Given the description of an element on the screen output the (x, y) to click on. 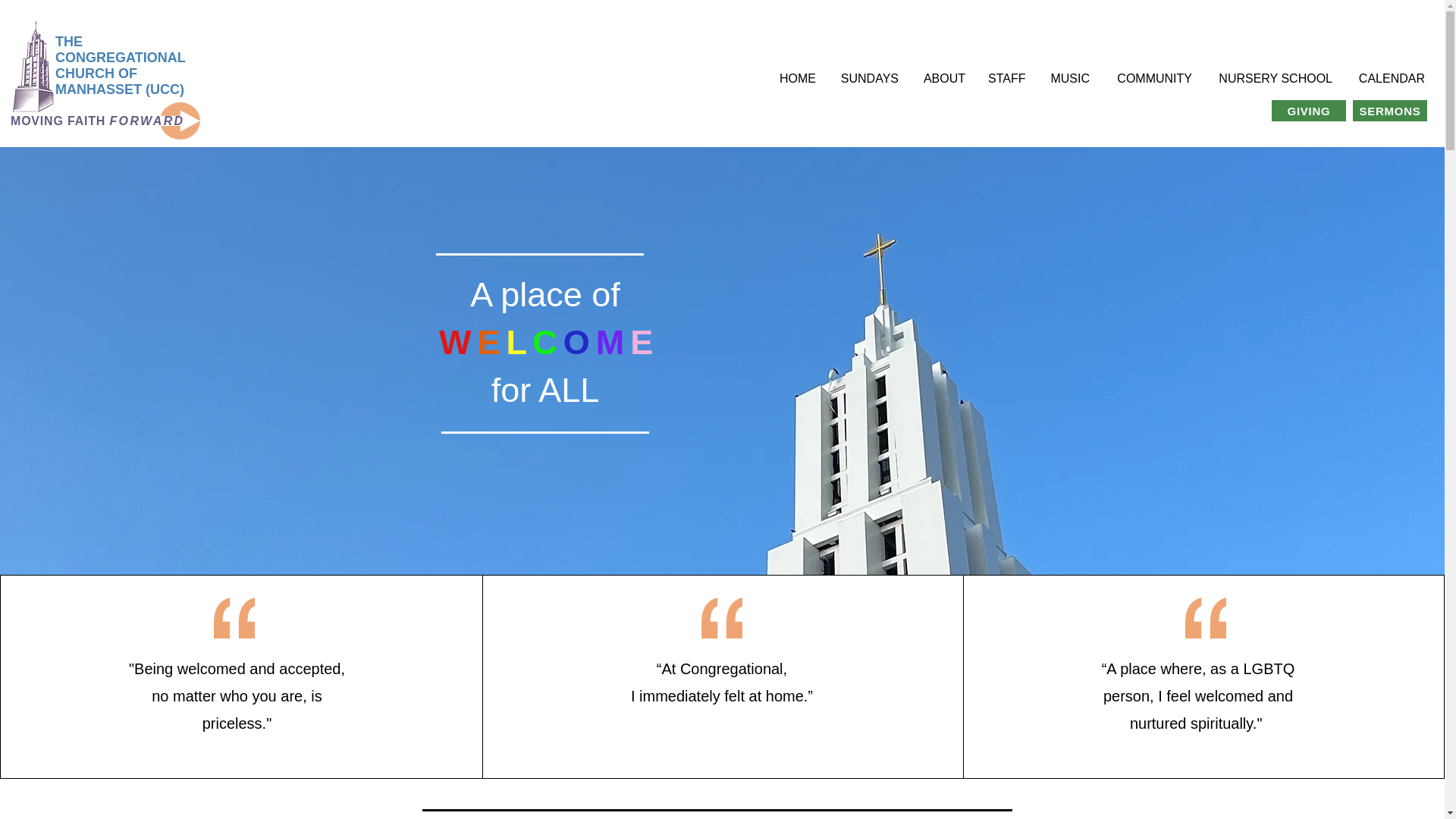
MUSIC (1068, 78)
ABOUT (943, 78)
GIVING (1308, 110)
SUNDAYS (868, 78)
CALENDAR (1389, 78)
SERMONS (1389, 110)
HOME (796, 78)
STAFF (1006, 78)
NURSERY SCHOOL (1273, 78)
